Given the description of an element on the screen output the (x, y) to click on. 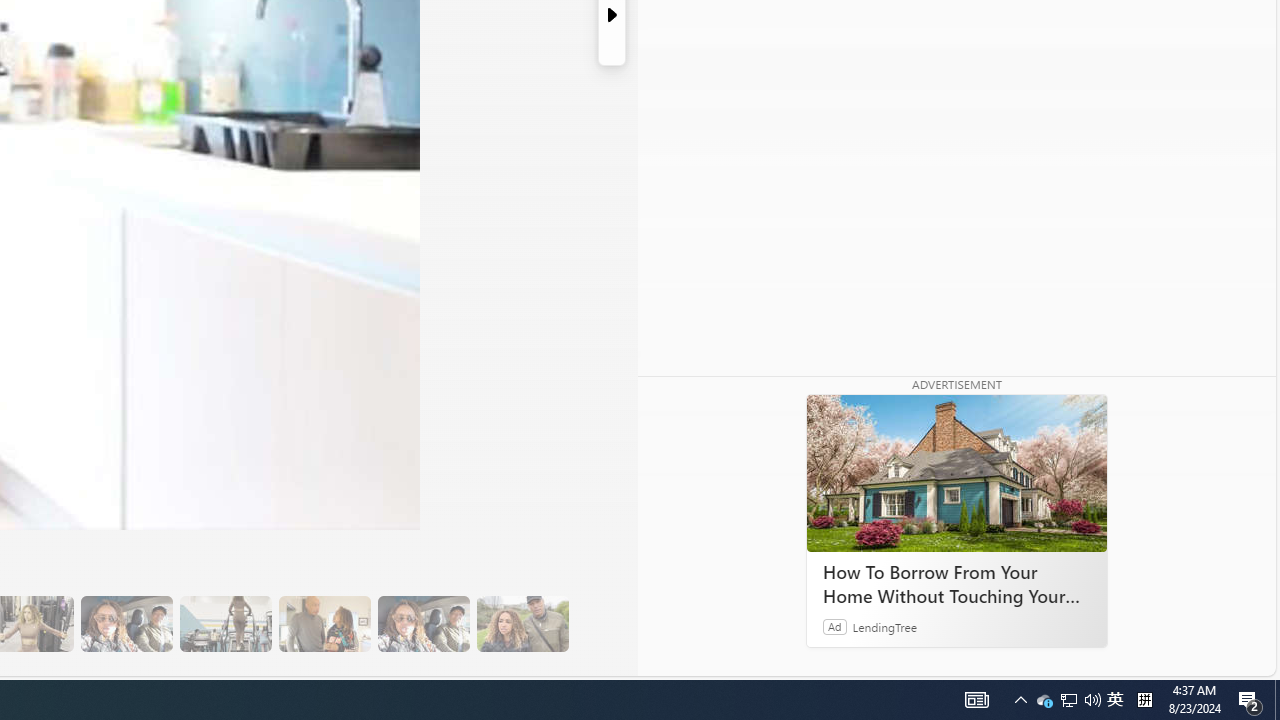
20 Overall, It Will Improve Your Health (522, 624)
LendingTree (884, 626)
16 The Couple's Program Helps with Accountability (125, 624)
19 It Also Simplifies Thiings (423, 624)
16 The Couple's Program Helps with Accountability (125, 624)
18 It's More Fun Doing It with Someone Else (324, 624)
20 Overall, It Will Improve Your Health (522, 624)
19 It Also Simplifies Thiings (423, 624)
